Given the description of an element on the screen output the (x, y) to click on. 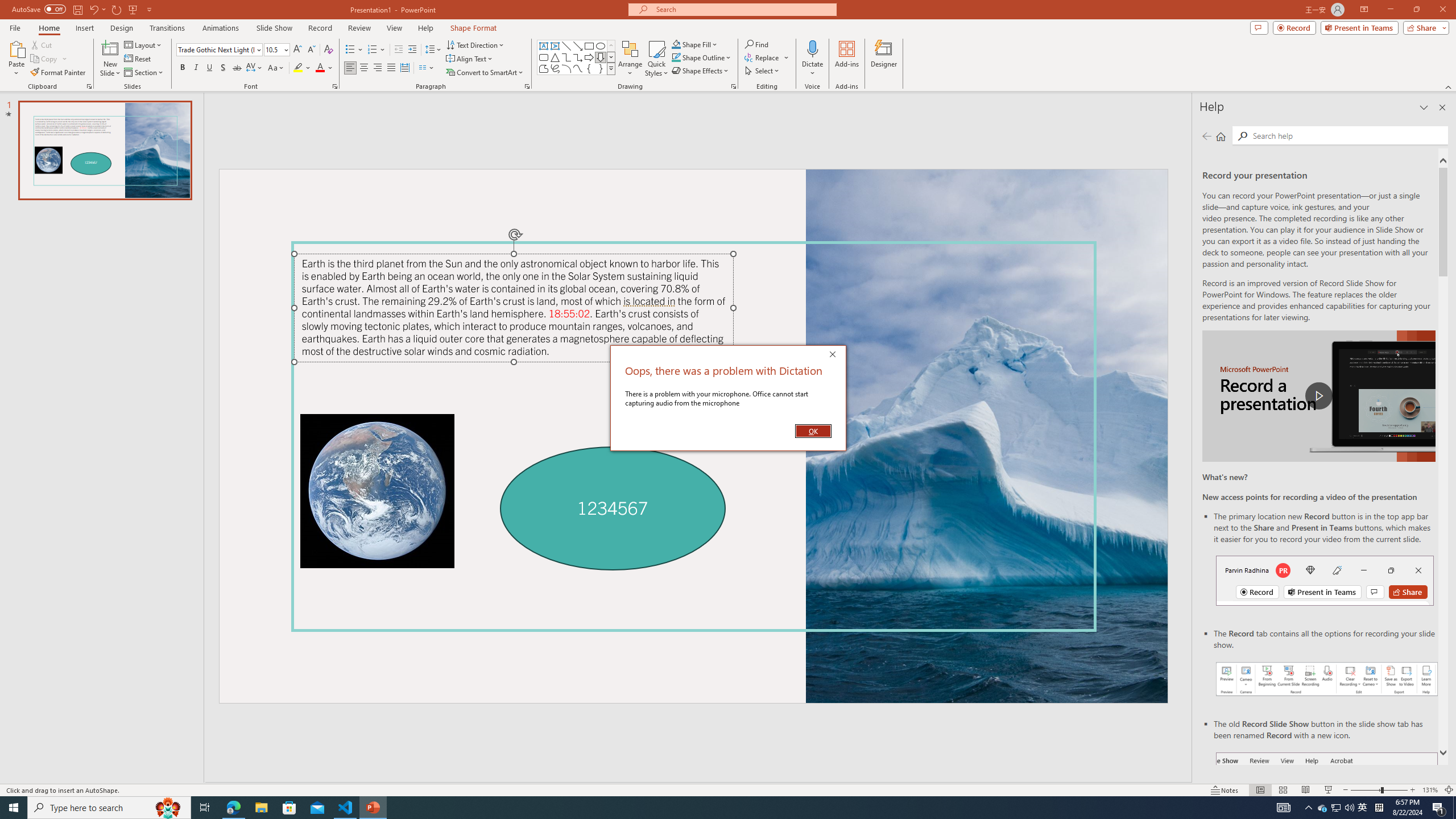
OK (812, 431)
Previous page (1206, 136)
Zoom 131% (1430, 790)
